Given the description of an element on the screen output the (x, y) to click on. 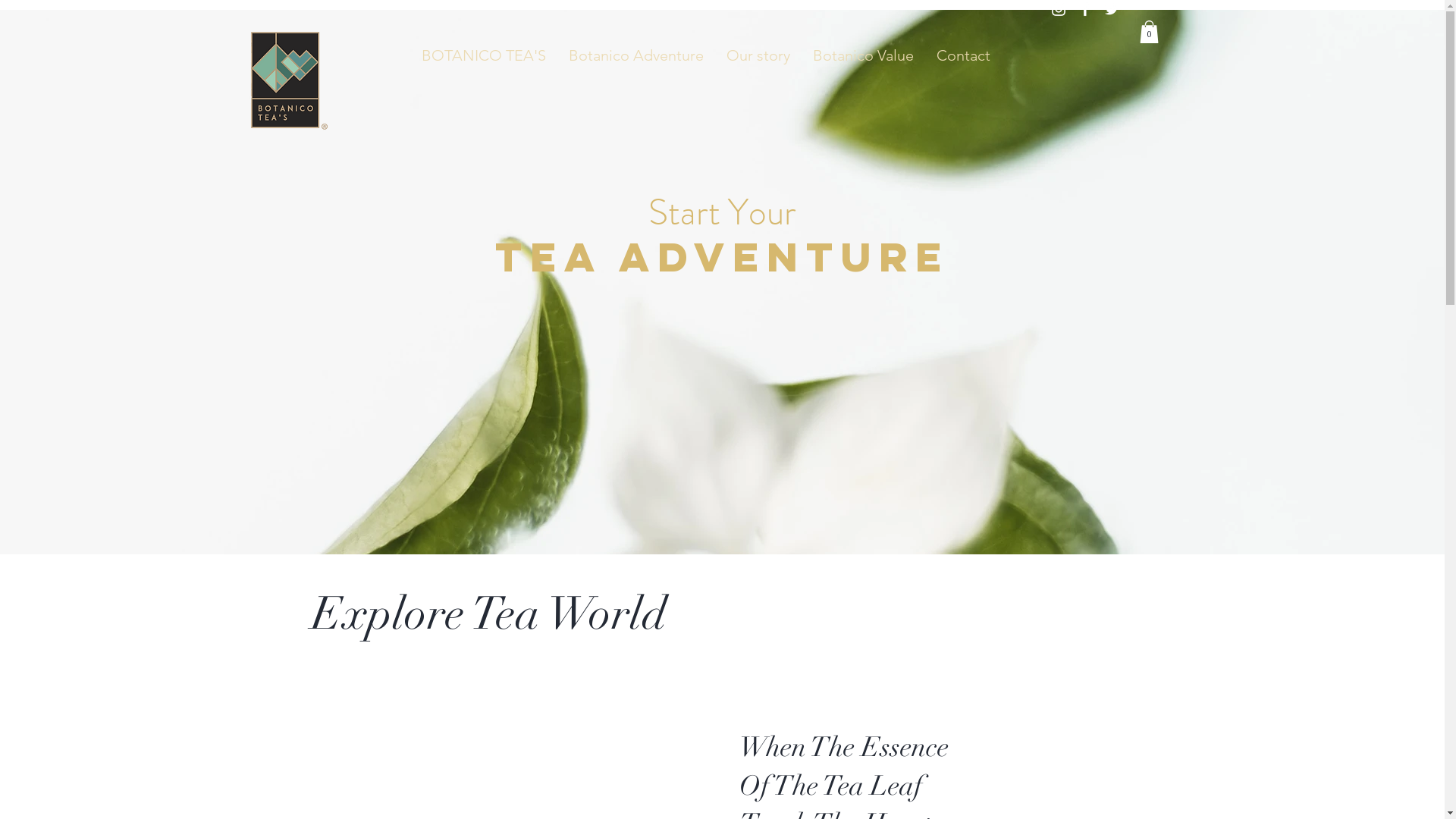
Botanico%C2%AE_vector_edited.png Element type: hover (284, 80)
Botanico Value Element type: text (863, 55)
Our story Element type: text (758, 55)
0 Element type: text (1148, 31)
Contact Element type: text (963, 55)
Botanico Adventure Element type: text (636, 55)
BOTANICO TEA'S Element type: text (483, 55)
Botanico%C2%AE_vector_edited.png Element type: hover (278, 87)
